Given the description of an element on the screen output the (x, y) to click on. 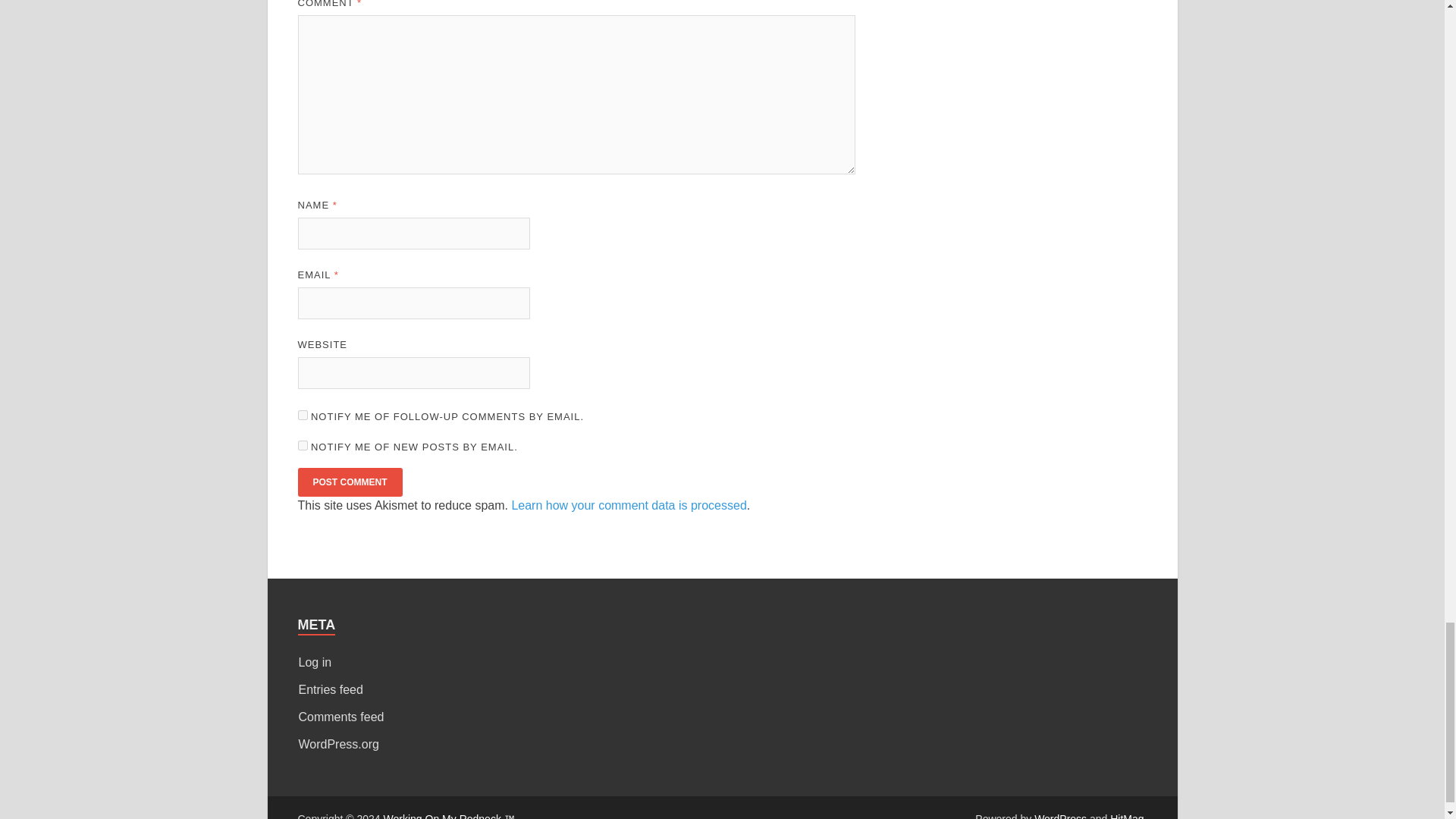
Post Comment (349, 481)
subscribe (302, 445)
subscribe (302, 415)
Post Comment (349, 481)
Learn how your comment data is processed (628, 504)
